Given the description of an element on the screen output the (x, y) to click on. 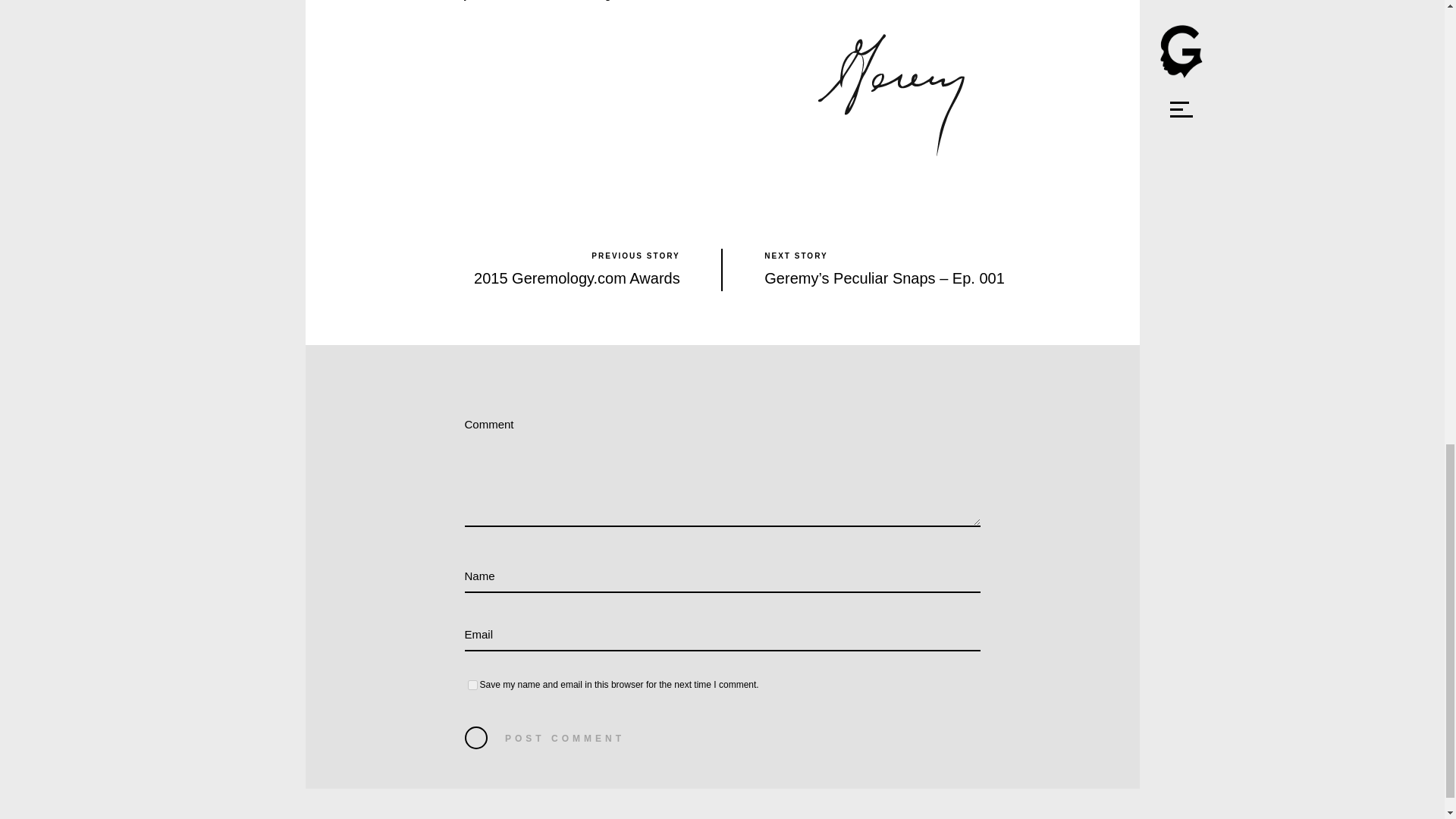
POST COMMENT (564, 738)
POST COMMENT (564, 738)
yes (472, 685)
2015 Geremology.com Awards (576, 278)
